Given the description of an element on the screen output the (x, y) to click on. 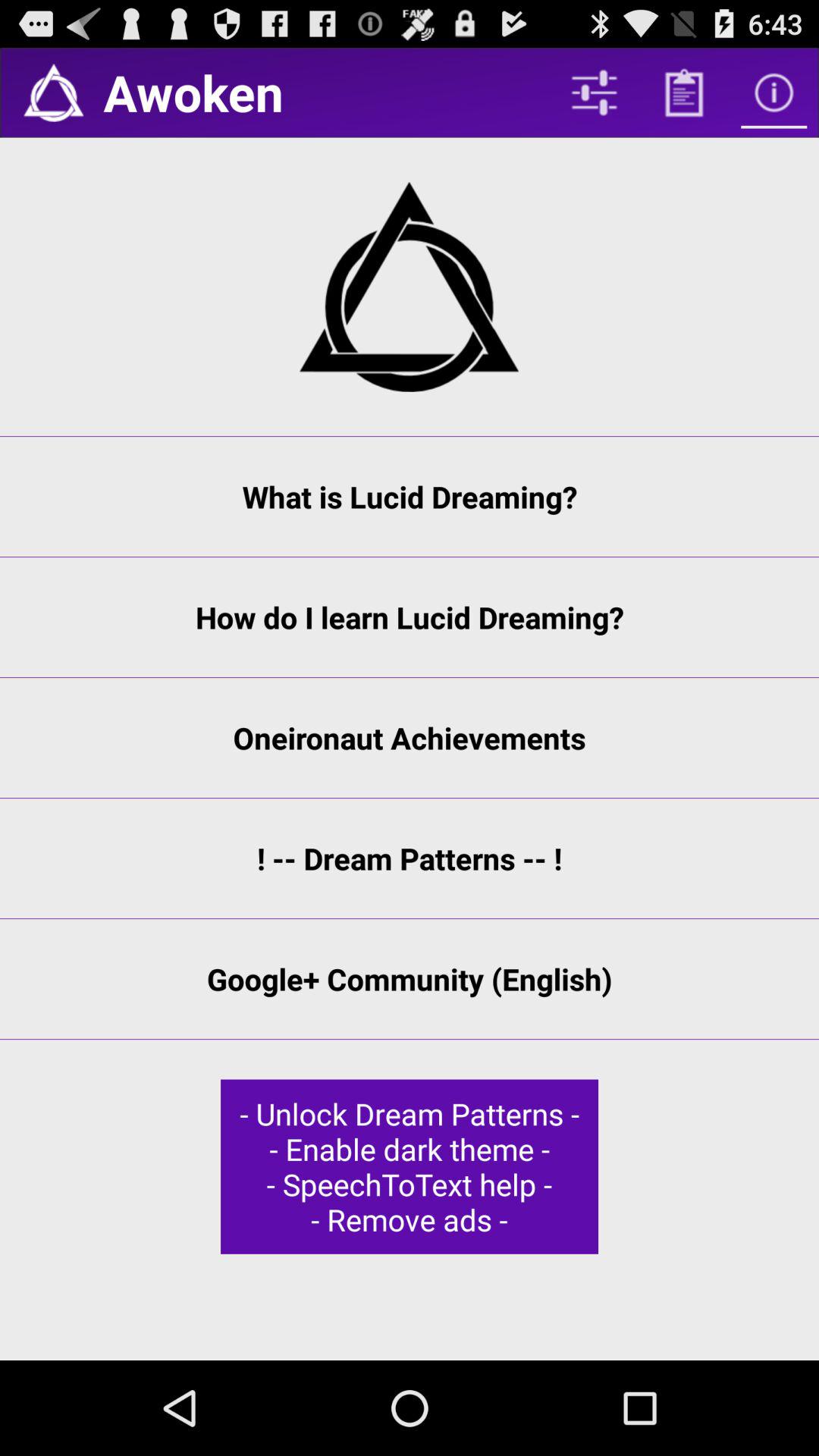
notifications (53, 92)
